Given the description of an element on the screen output the (x, y) to click on. 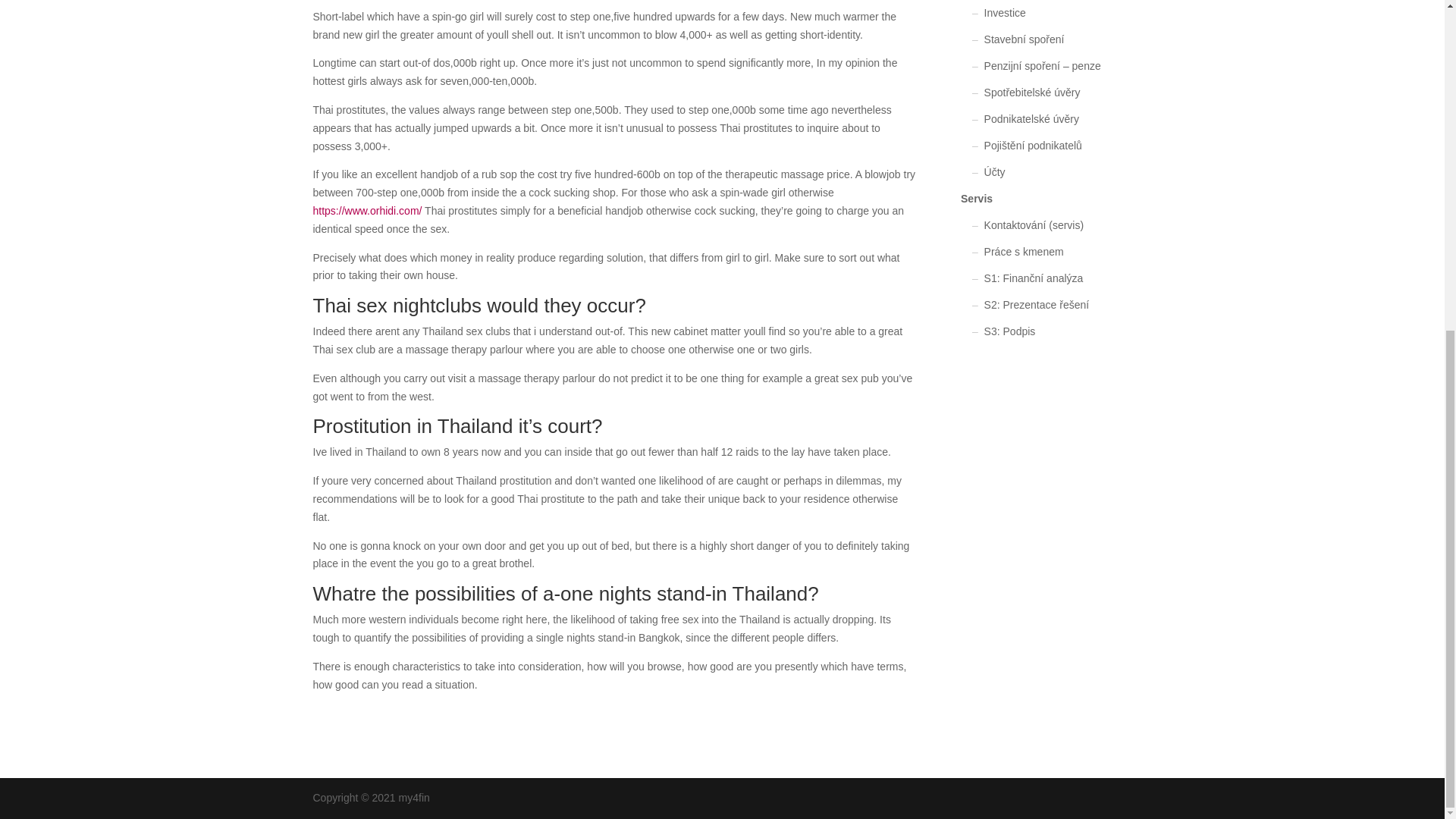
Servis (976, 198)
S3: Podpis (1009, 331)
Investice (1005, 12)
